Given the description of an element on the screen output the (x, y) to click on. 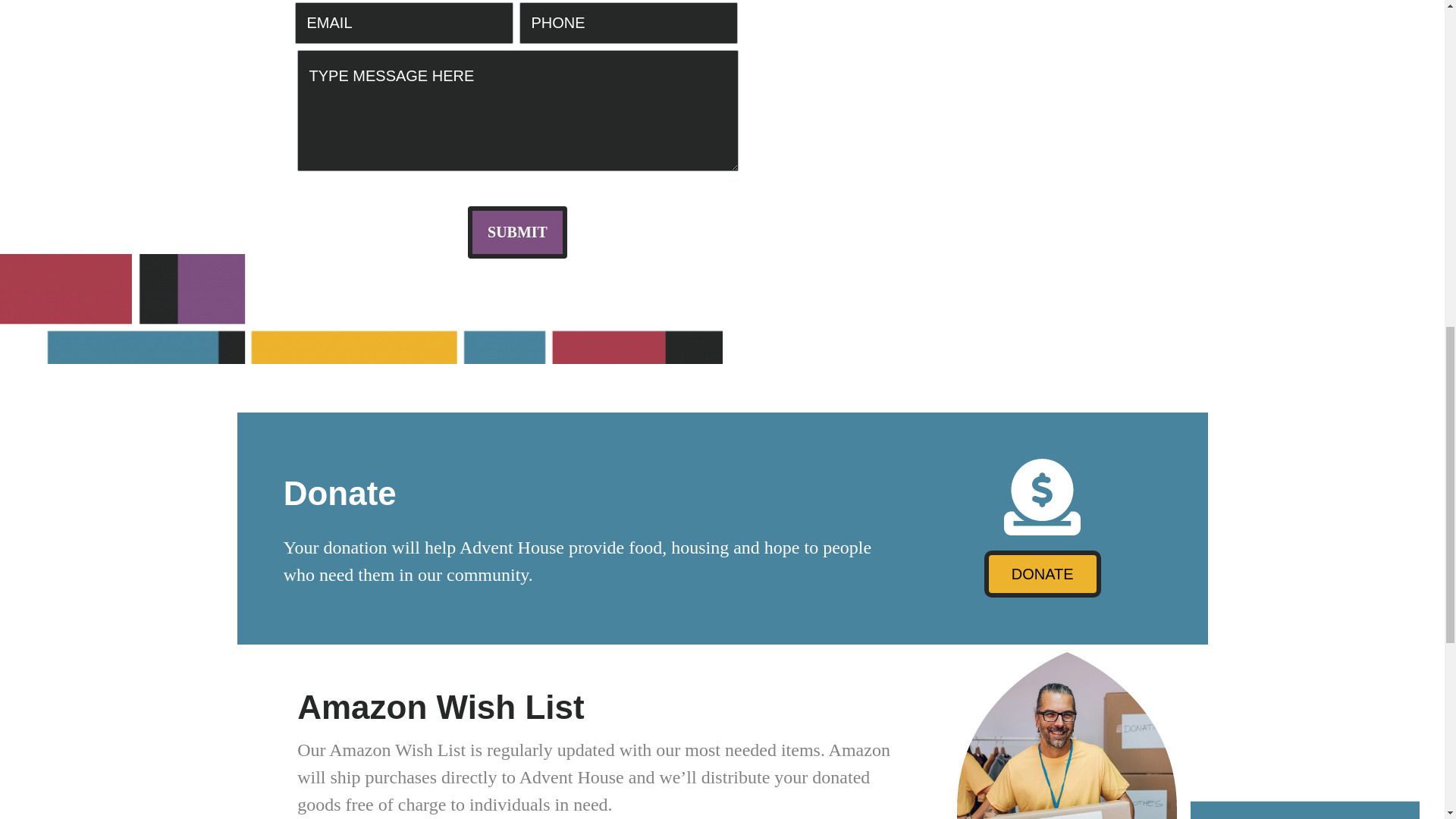
DONATE (1042, 573)
Submit (517, 232)
Submit (517, 232)
